Given the description of an element on the screen output the (x, y) to click on. 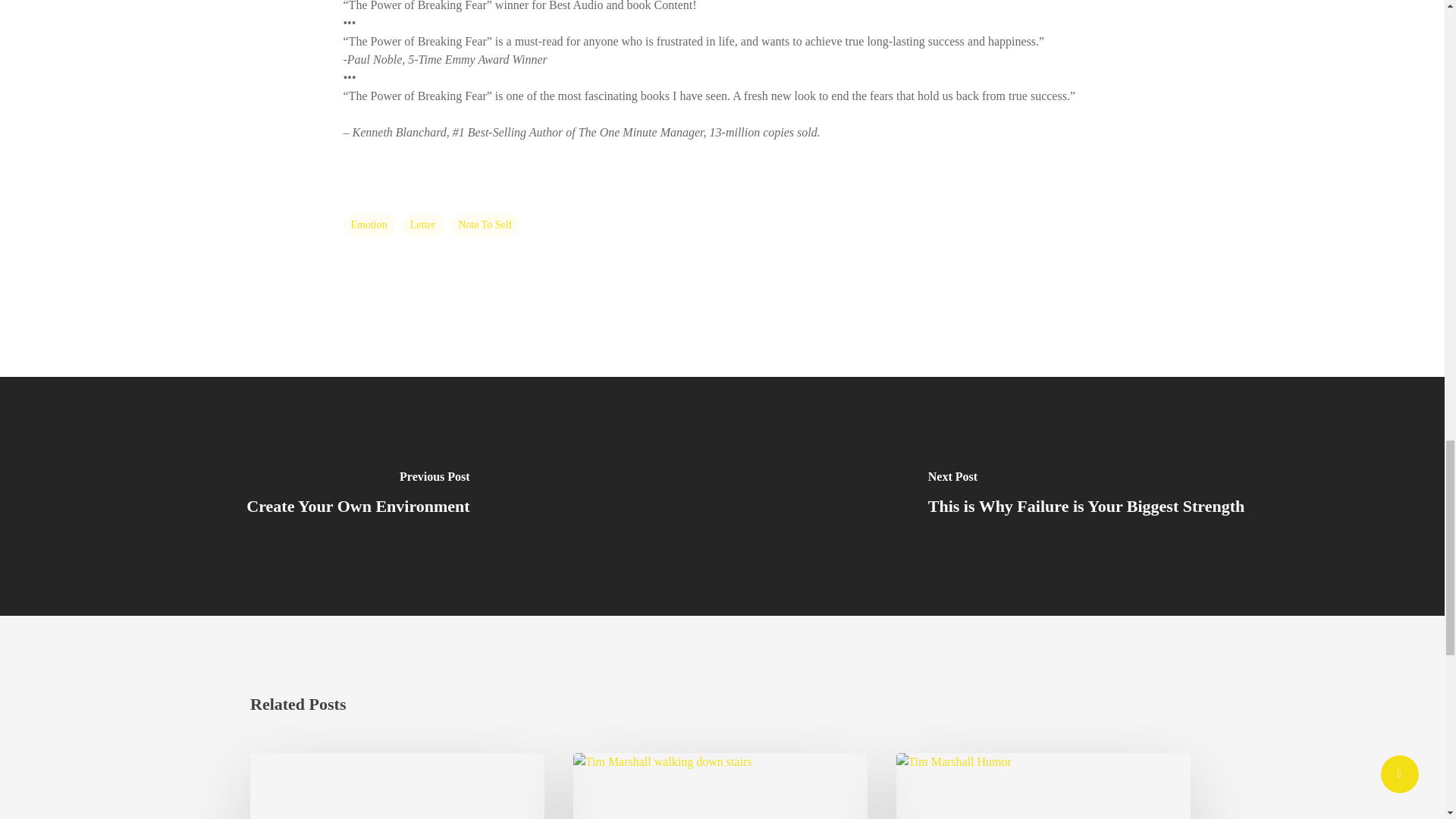
Letter (422, 224)
Note To Self (484, 224)
Emotion (368, 224)
